Given the description of an element on the screen output the (x, y) to click on. 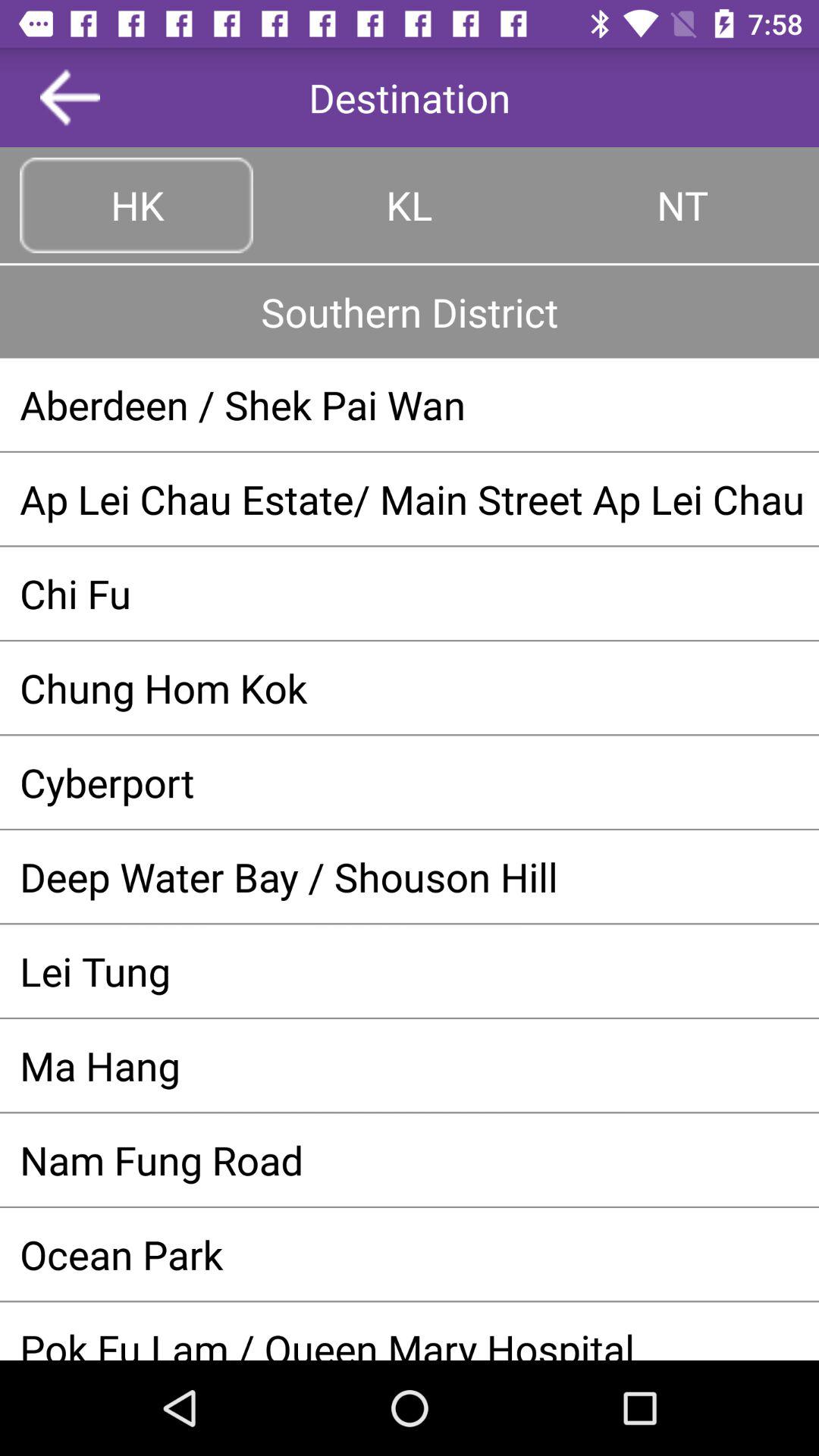
swipe until the ap lei chau app (409, 498)
